Given the description of an element on the screen output the (x, y) to click on. 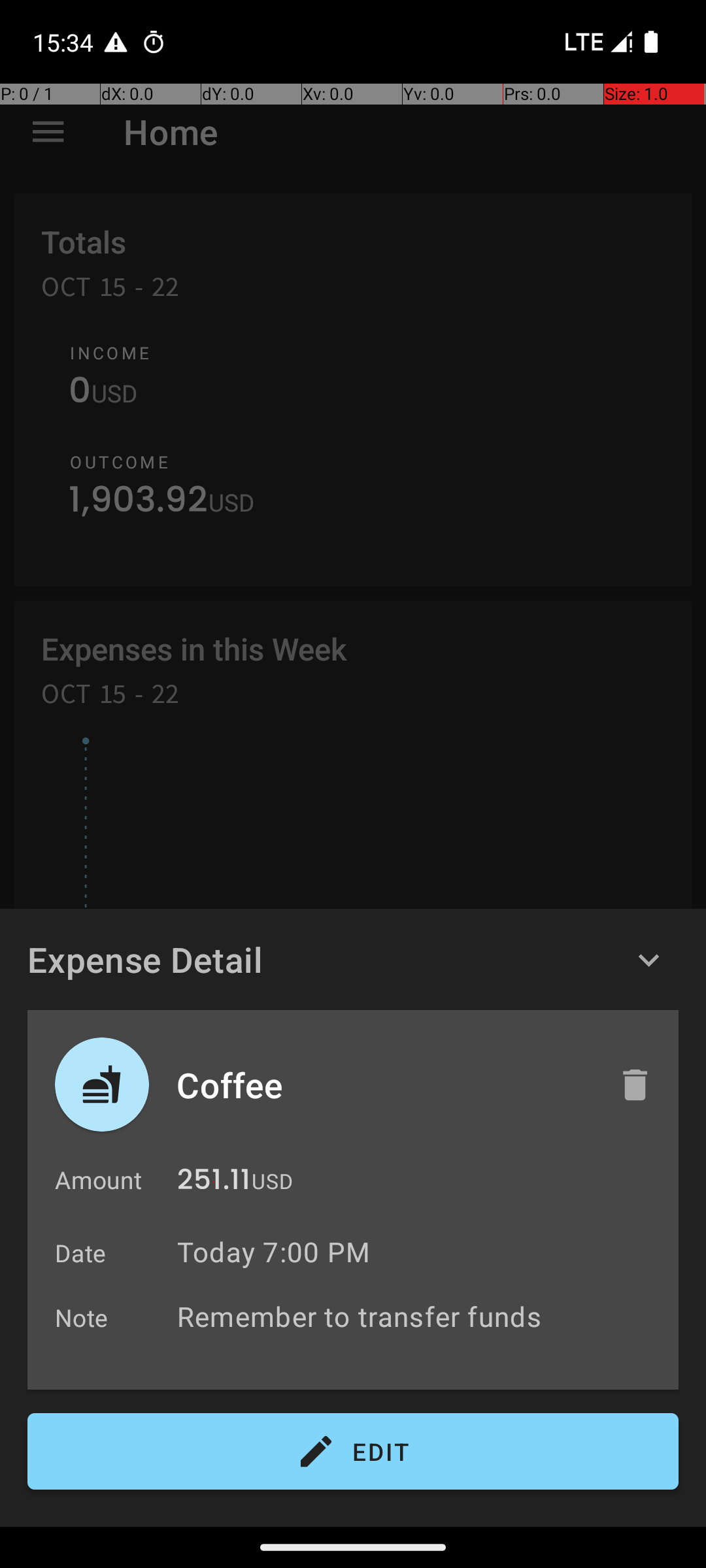
Coffee Element type: android.widget.TextView (383, 1084)
251.11 Element type: android.widget.TextView (213, 1182)
Today 7:00 PM Element type: android.widget.TextView (273, 1251)
Remember to transfer funds Element type: android.widget.TextView (420, 1315)
